Given the description of an element on the screen output the (x, y) to click on. 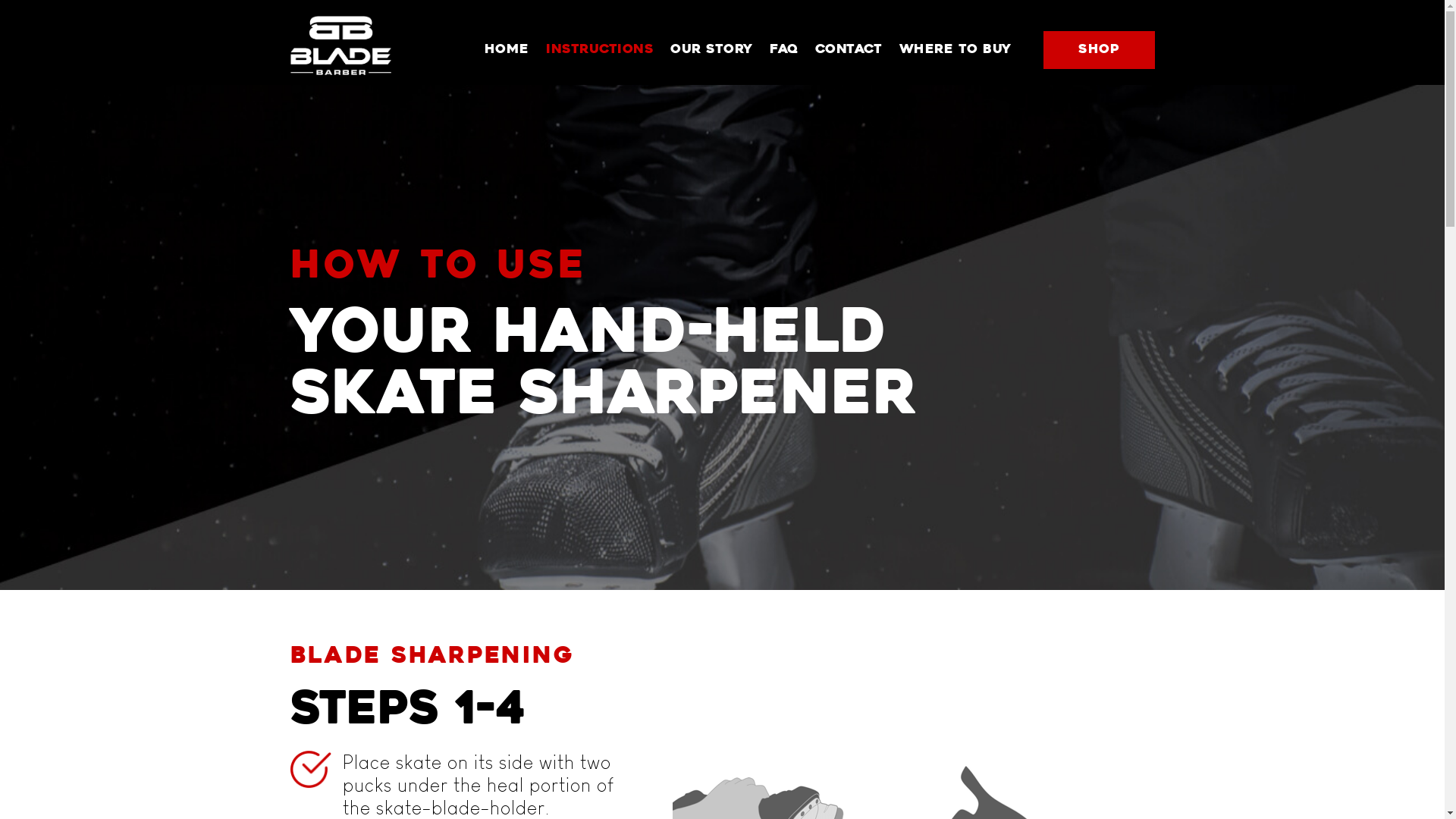
HOME Element type: text (506, 49)
OUR STORY Element type: text (711, 49)
CONTACT Element type: text (848, 49)
INSTRUCTIONS Element type: text (599, 49)
SHOP Element type: text (1098, 50)
WHERE TO BUY Element type: text (955, 49)
FAQ Element type: text (783, 49)
